Given the description of an element on the screen output the (x, y) to click on. 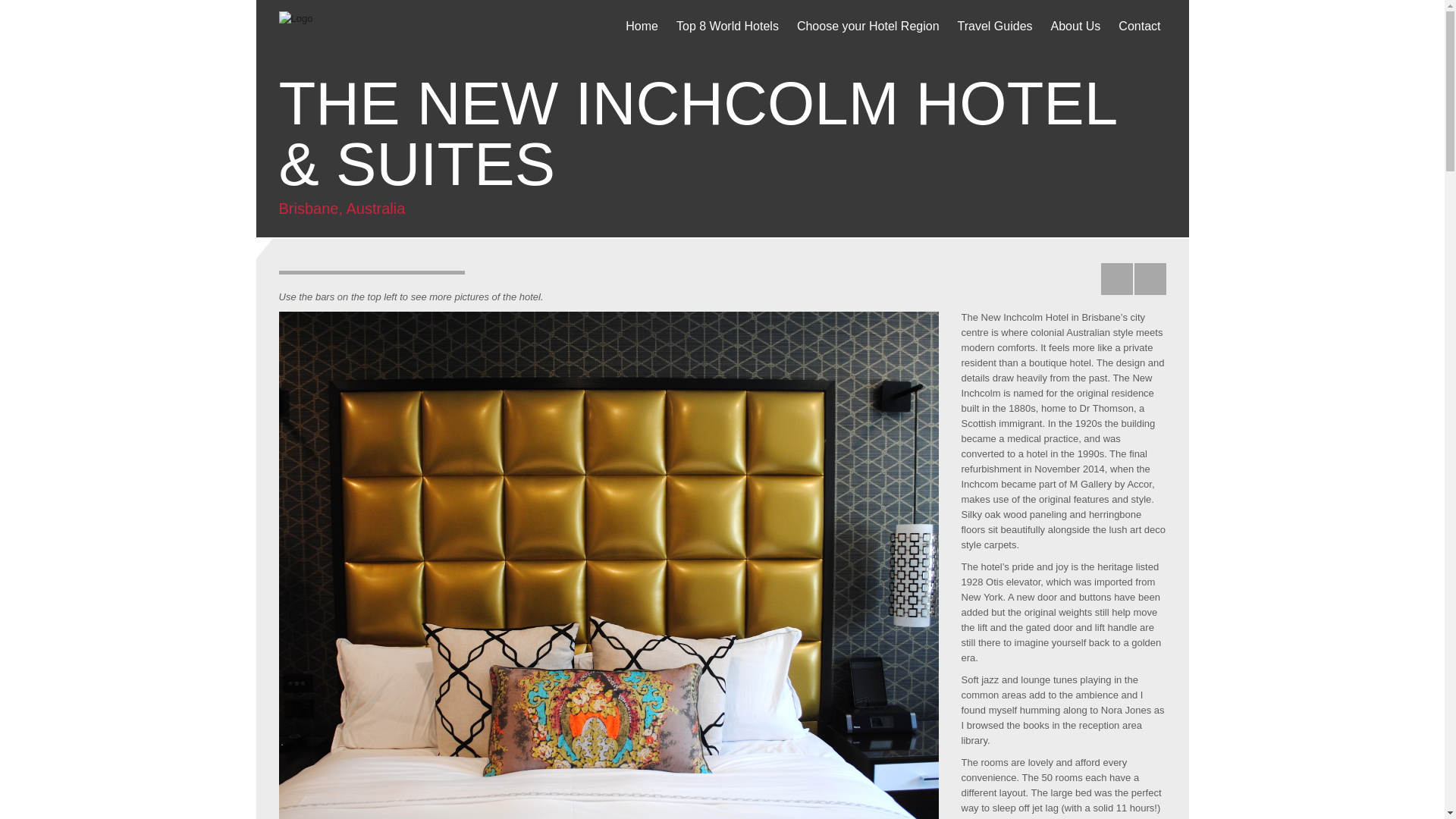
Home (641, 28)
Choose your Hotel Region (868, 28)
Top 8 World Hotels (727, 28)
